Given the description of an element on the screen output the (x, y) to click on. 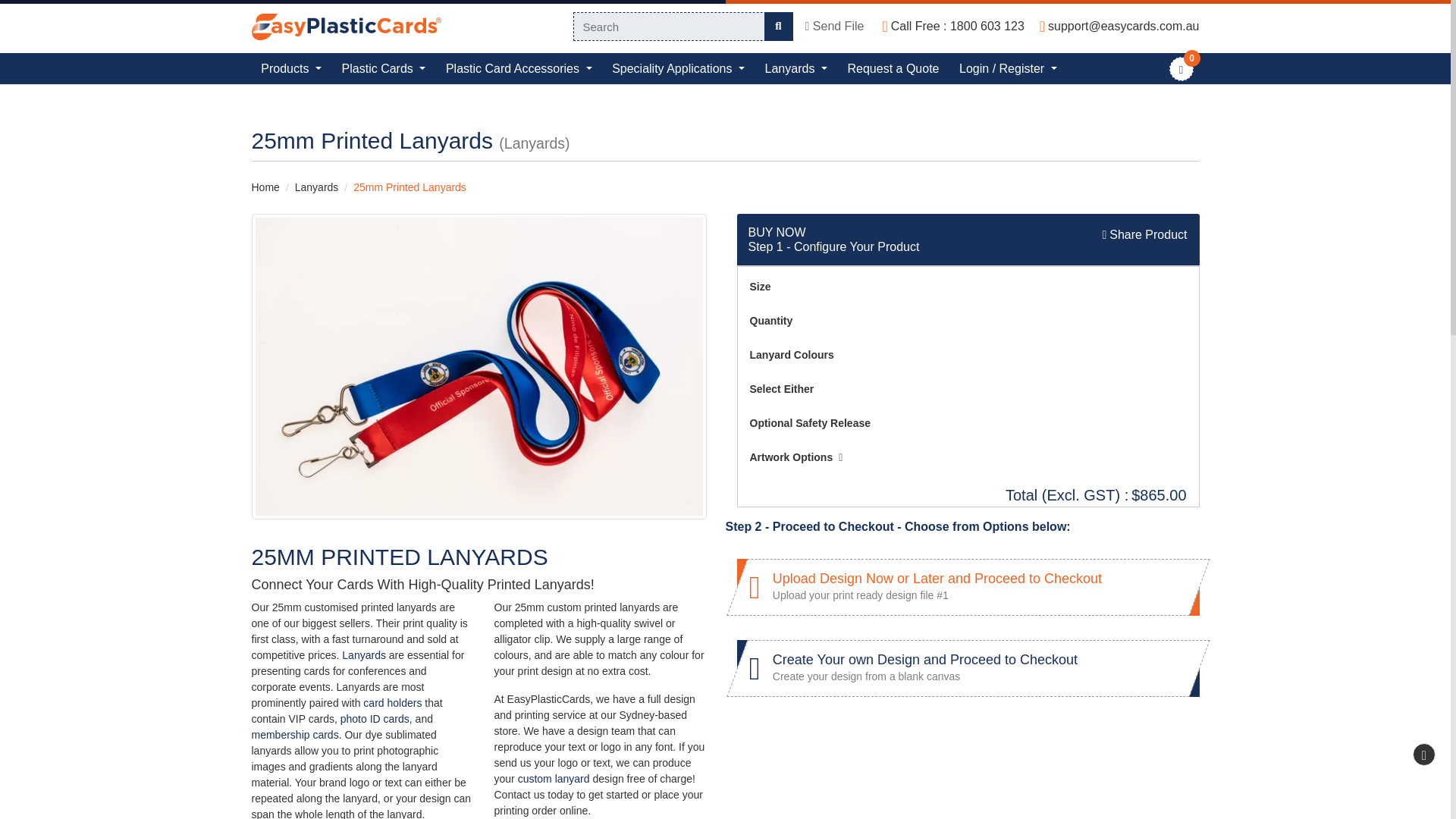
Send File (834, 25)
Plastic Cards (383, 68)
Products (291, 68)
Call Free : 1800 603 123 (952, 26)
